Given the description of an element on the screen output the (x, y) to click on. 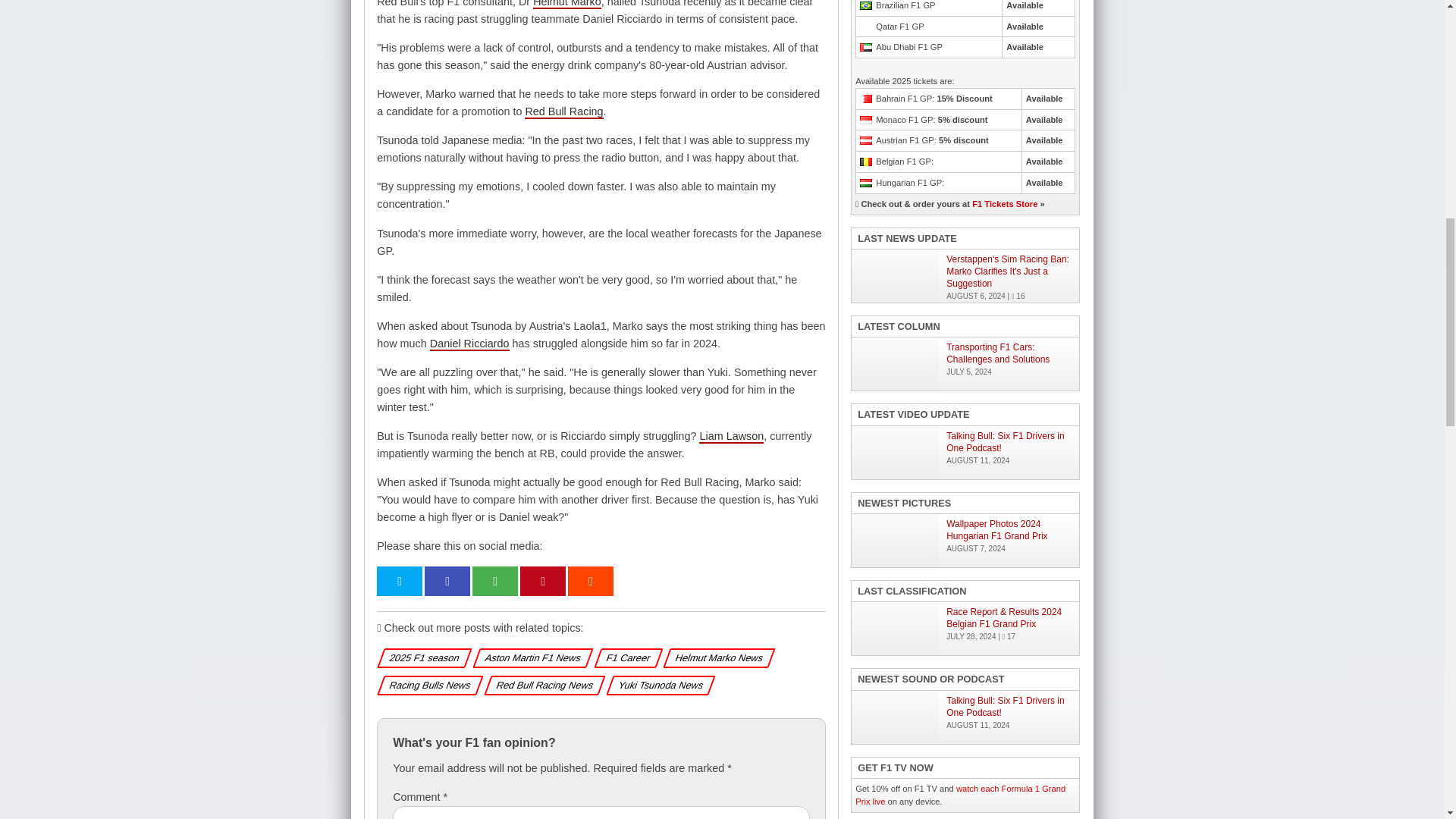
Racing Bulls News (428, 685)
Red Bull Racing News (542, 685)
Helmut Marko (566, 4)
F1 Career (626, 657)
Aston Martin F1 News (531, 657)
2025 F1 season (422, 657)
Liam Lawson (730, 436)
Daniel Ricciardo (469, 344)
Helmut Marko News (716, 657)
Red Bull Racing (563, 111)
